Given the description of an element on the screen output the (x, y) to click on. 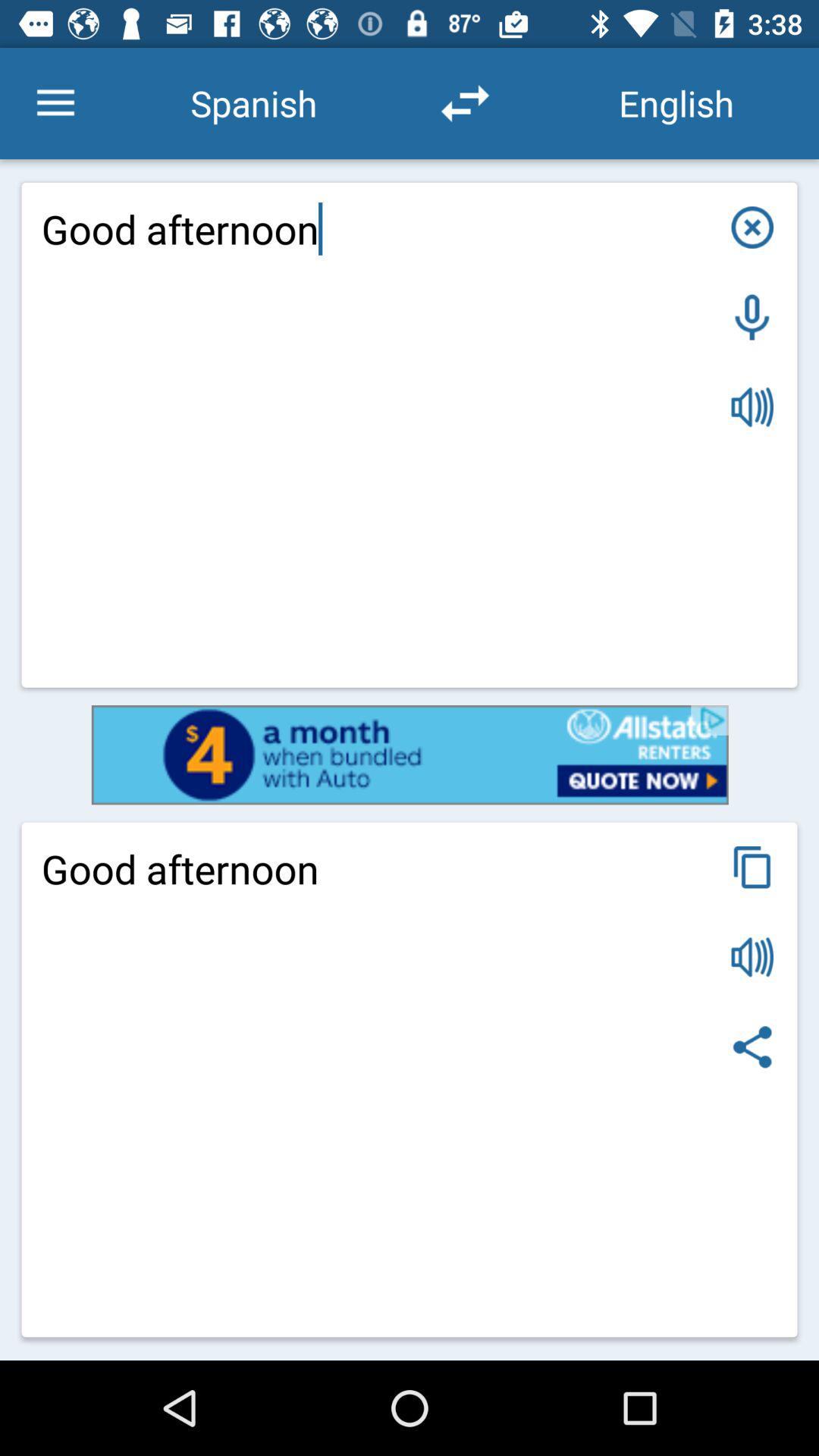
open allstate renters advertisement (409, 754)
